Given the description of an element on the screen output the (x, y) to click on. 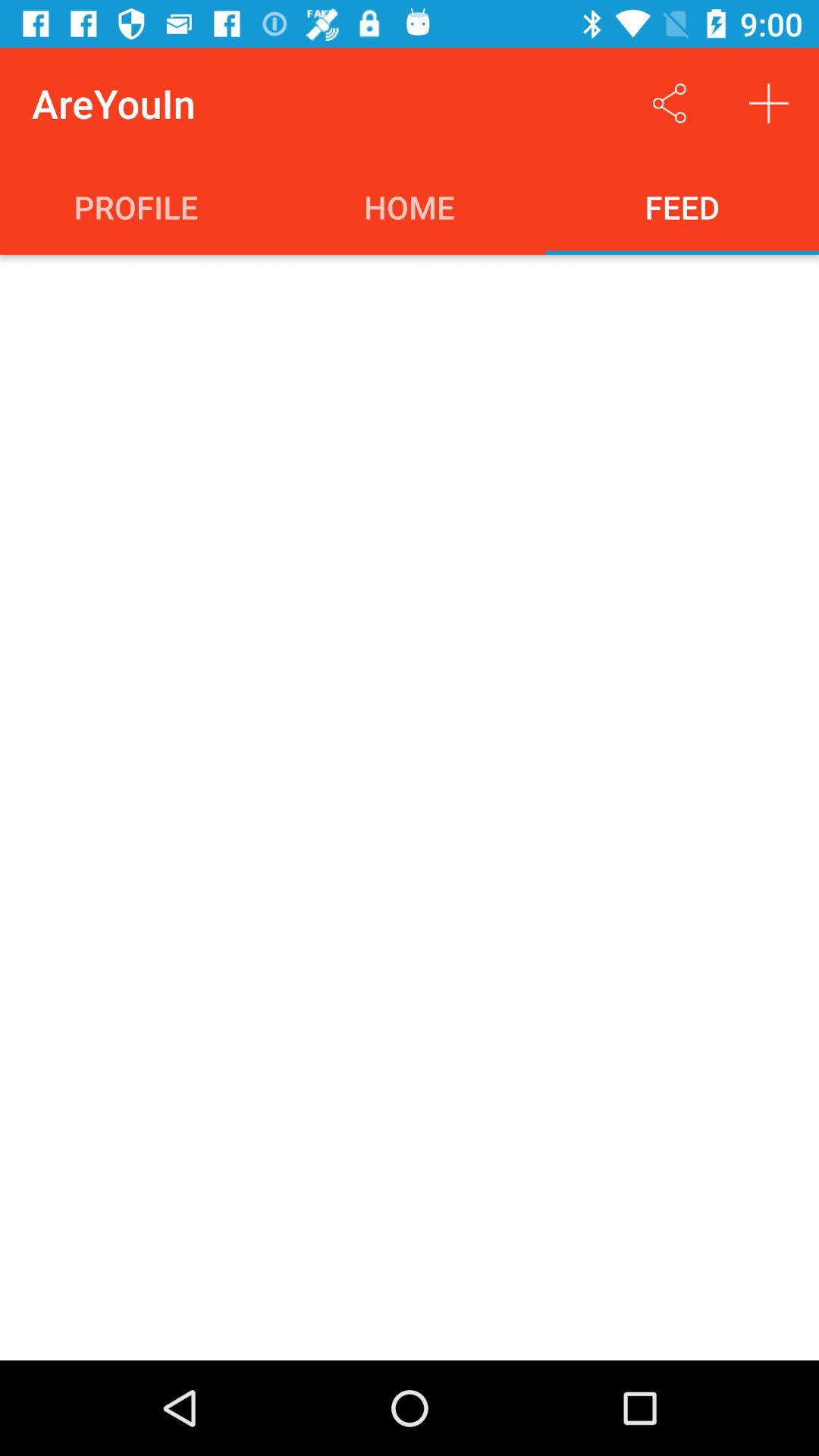
open icon to the right of the areyouin icon (669, 103)
